Given the description of an element on the screen output the (x, y) to click on. 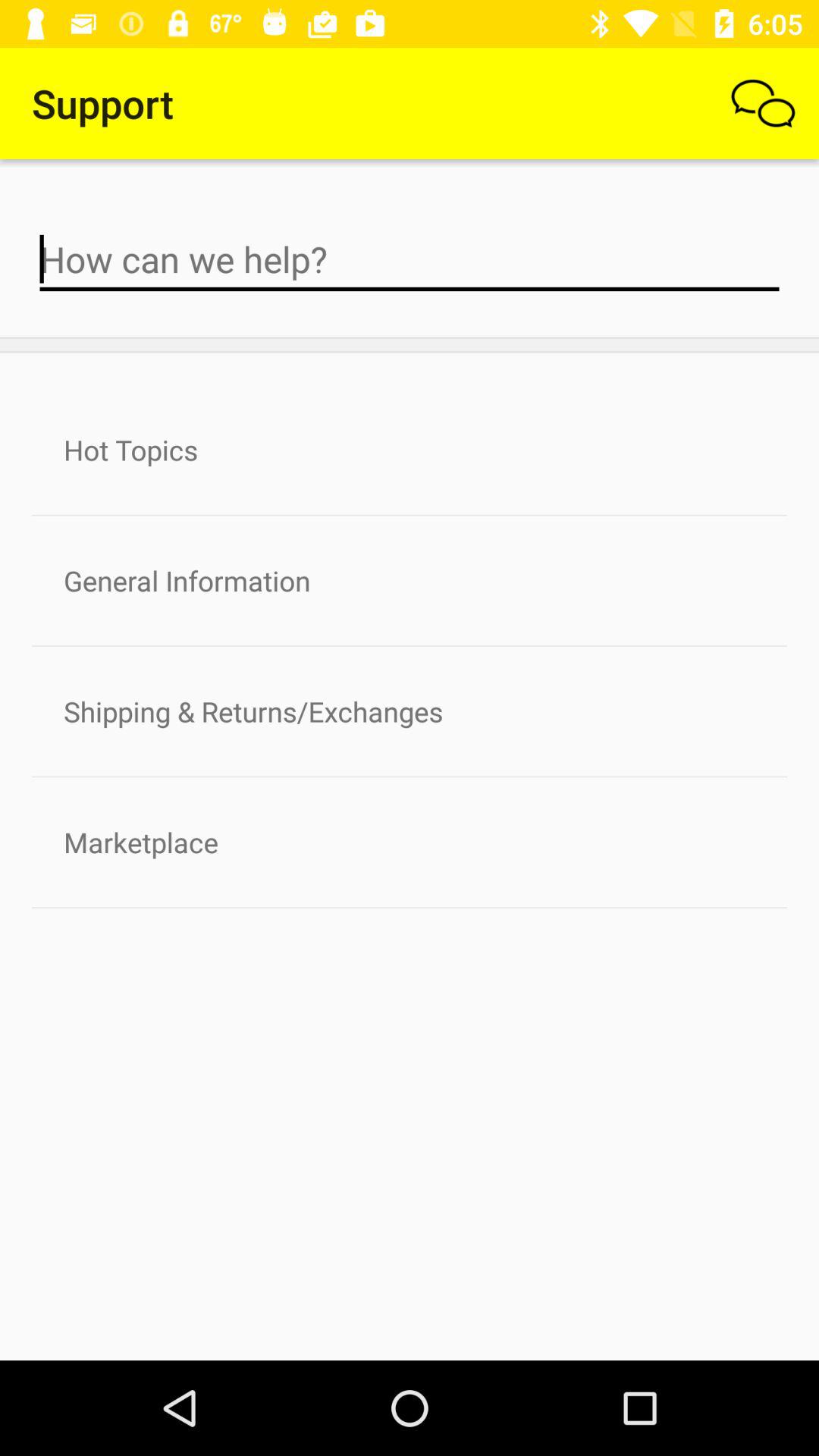
click the icon above the marketplace icon (409, 711)
